Given the description of an element on the screen output the (x, y) to click on. 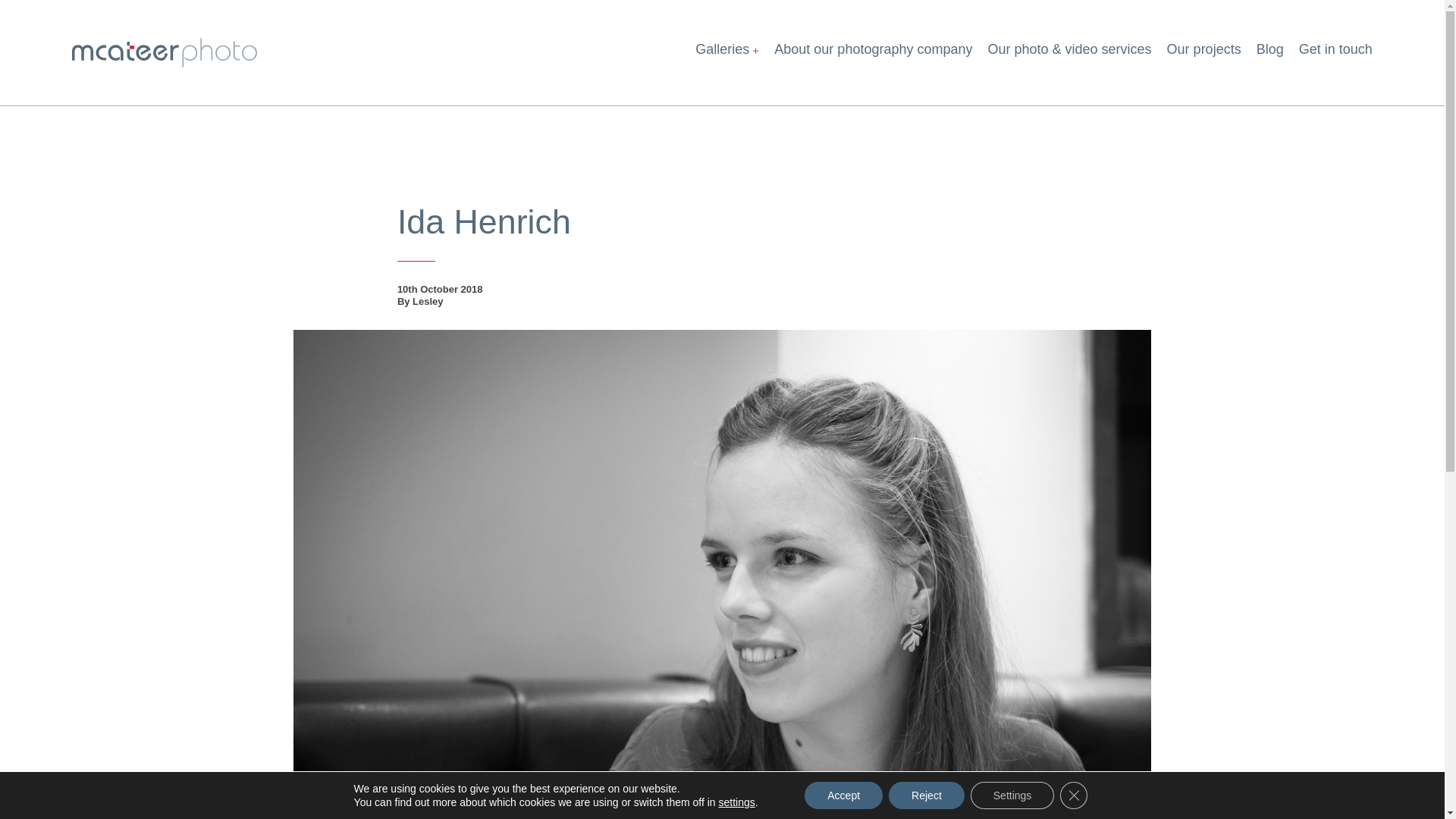
Blog (1270, 52)
Our projects (1204, 52)
Galleries (726, 53)
About our photography company (873, 52)
McAteer Photo (164, 52)
Get in touch (1335, 52)
